Given the description of an element on the screen output the (x, y) to click on. 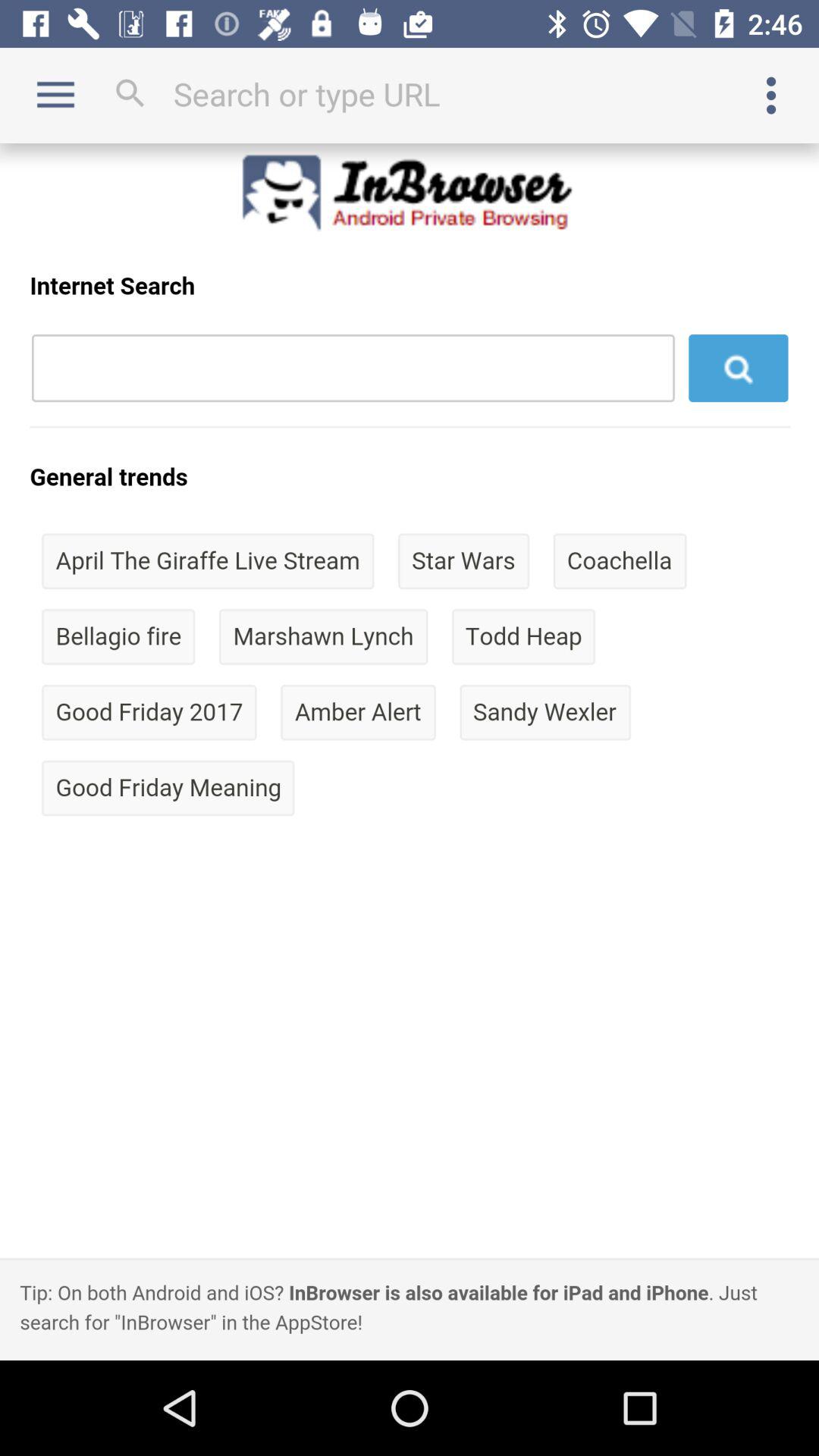
search bar (409, 94)
